Given the description of an element on the screen output the (x, y) to click on. 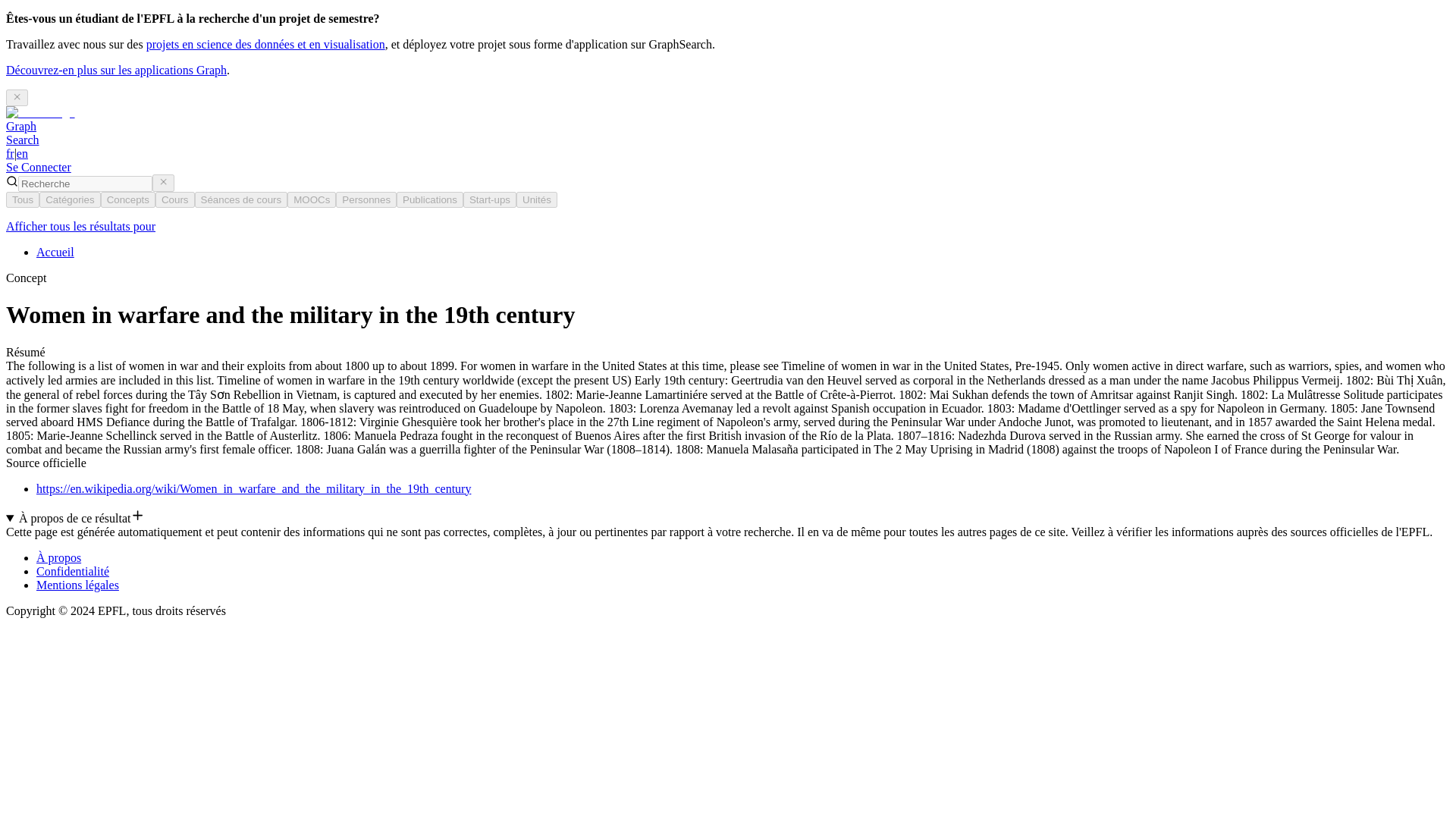
MOOCs (311, 199)
Cours (175, 199)
Se Connecter (22, 132)
Close notification (38, 166)
Tous (16, 97)
Personnes (22, 199)
Accueil (366, 199)
Concepts (55, 251)
Publications (127, 199)
